Given the description of an element on the screen output the (x, y) to click on. 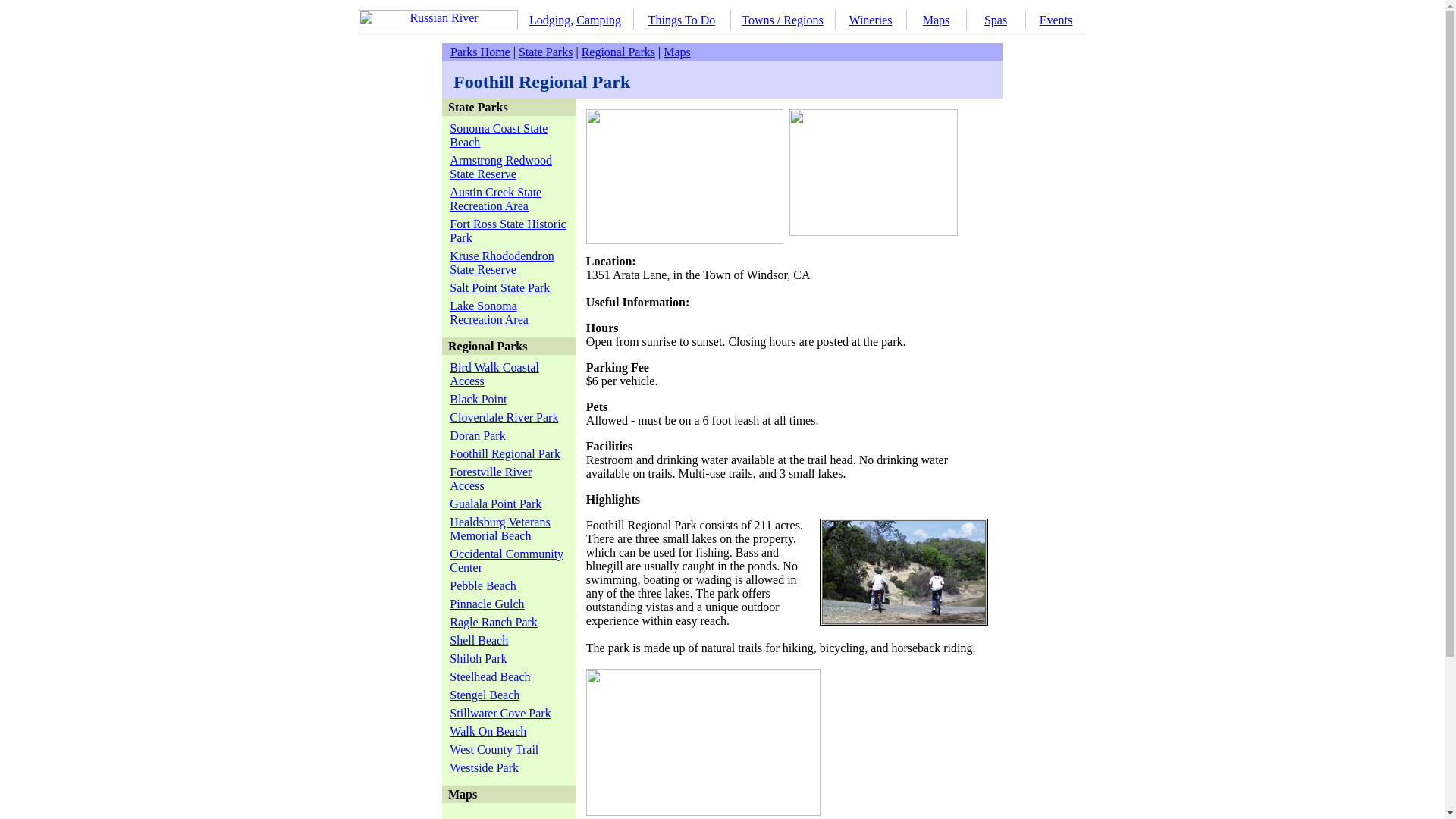
Cloverdale River Park (503, 417)
Shell Beach (478, 640)
Austin Creek State Recreation Area (495, 198)
Bird Walk Coastal Access (493, 374)
State Parks (545, 51)
Armstrong Redwood State Reserve (500, 166)
Maps (936, 19)
Shiloh Park (477, 658)
Regional Parks (617, 51)
Events (1056, 19)
Foothill Regional Park (504, 453)
Kruse Rhododendron State Reserve (501, 262)
Black Point (477, 399)
Steelhead Beach (489, 676)
Spas (995, 19)
